Given the description of an element on the screen output the (x, y) to click on. 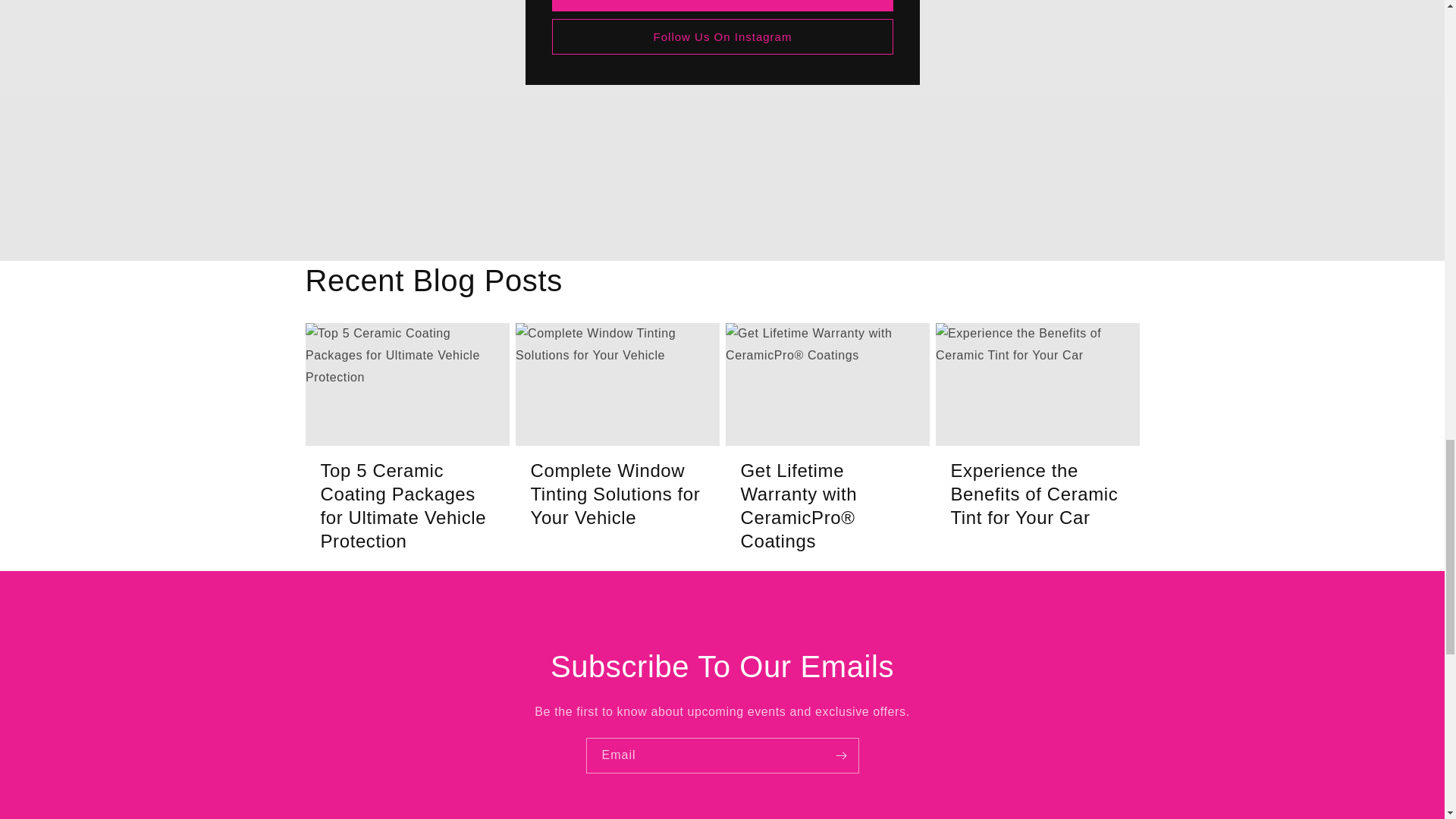
Follow Us On Instagram (722, 36)
Like Us On Facebook (722, 5)
Complete Window Tinting Solutions for Your Vehicle (617, 493)
